Given the description of an element on the screen output the (x, y) to click on. 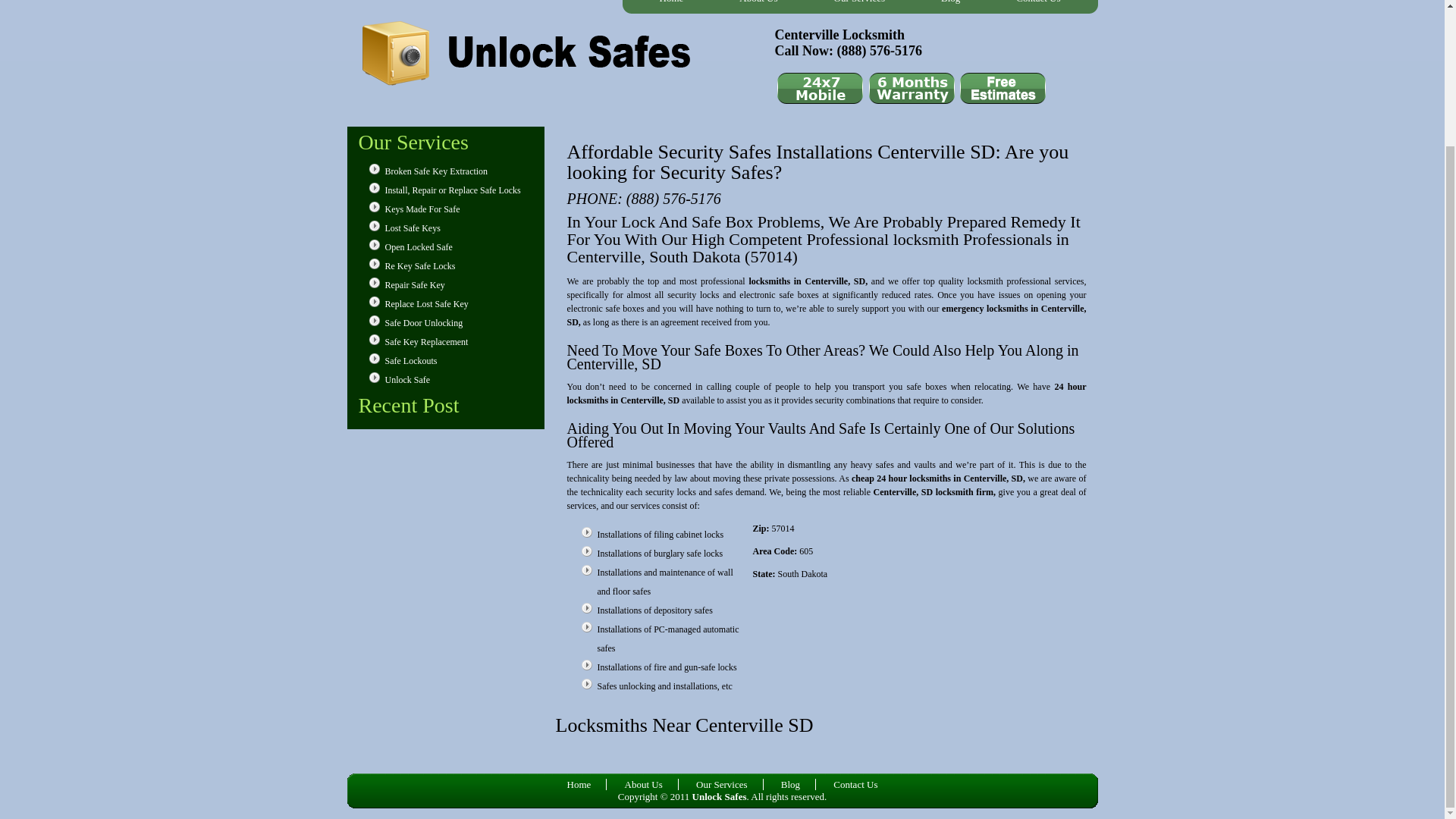
Contact Us (855, 784)
Our Services (860, 6)
Blog (790, 784)
Re Key Safe Locks (420, 266)
About Us (644, 784)
Safe Key Replacement (426, 341)
Open Locked Safe (418, 246)
Replace Lost Safe Key (426, 303)
Our Services (721, 784)
Unlock Safes (719, 796)
